Given the description of an element on the screen output the (x, y) to click on. 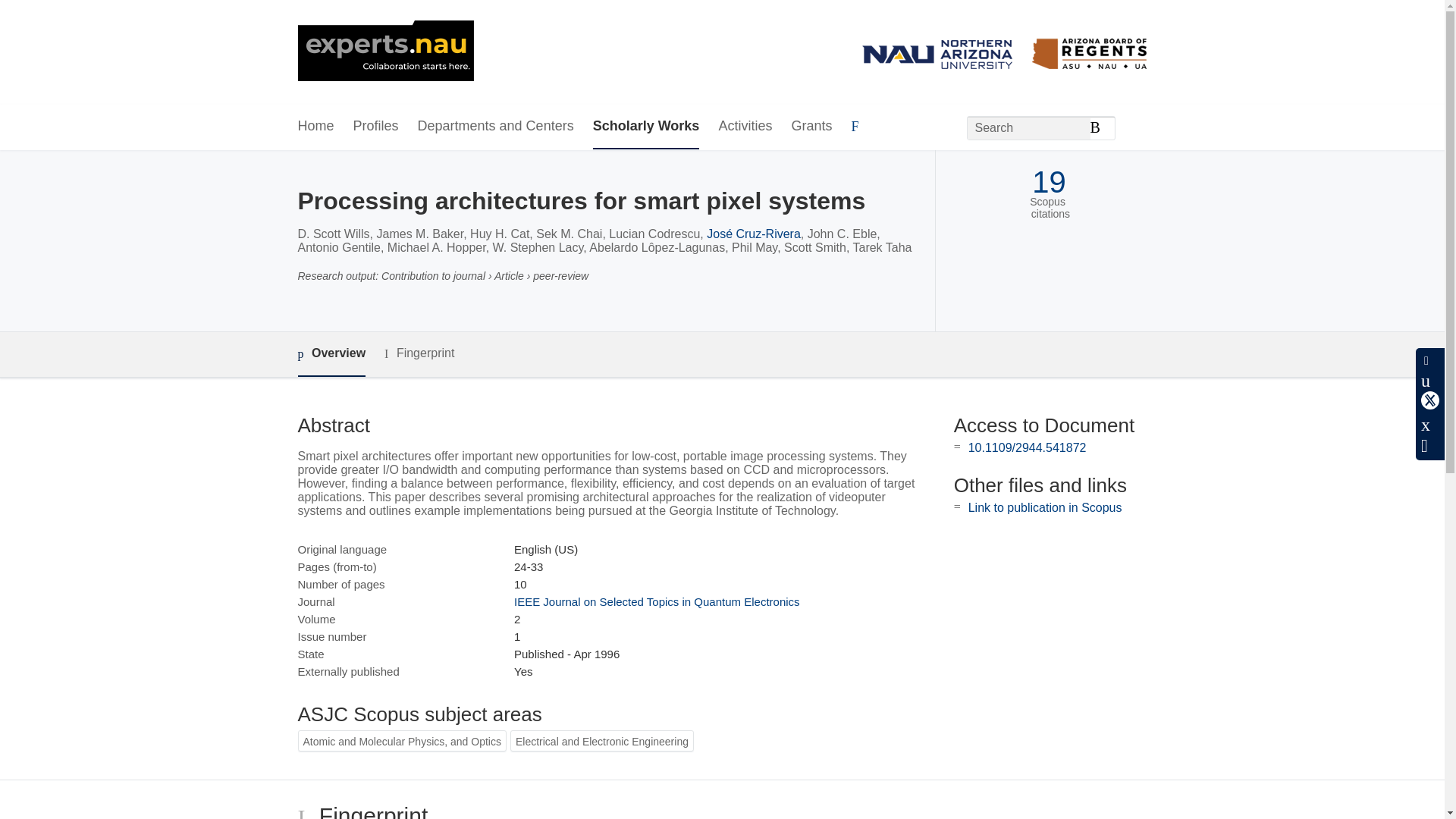
Scholarly Works (646, 126)
IEEE Journal on Selected Topics in Quantum Electronics (656, 601)
Link to publication in Scopus (1045, 507)
19 (1048, 181)
Profiles (375, 126)
Grants (810, 126)
Fingerprint (419, 353)
Overview (331, 354)
Activities (744, 126)
Departments and Centers (495, 126)
Northern Arizona University Home (385, 52)
